Given the description of an element on the screen output the (x, y) to click on. 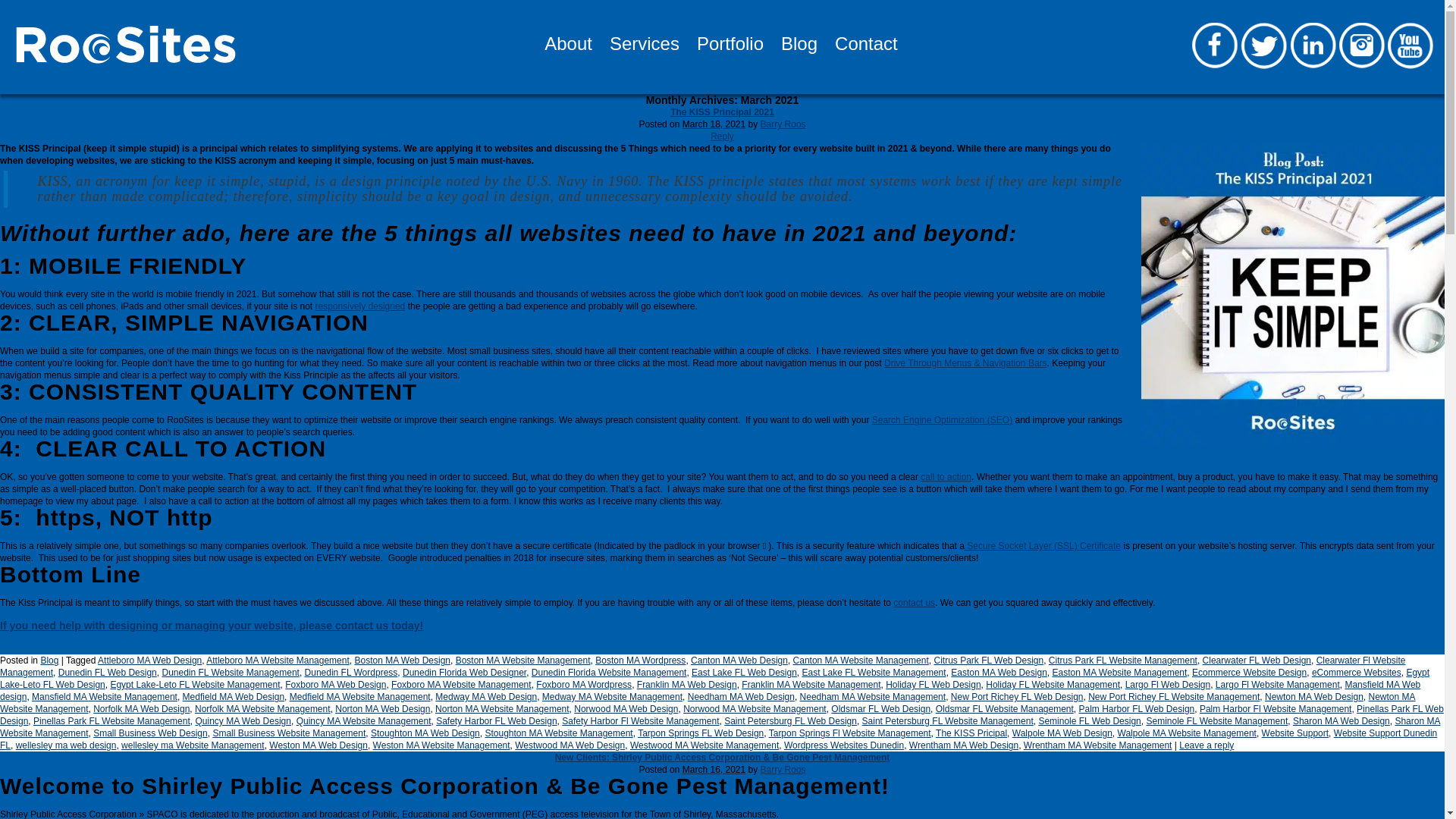
Contact (857, 48)
Barry Roos (783, 123)
call to action (945, 476)
March 18, 2021 (713, 123)
5:31 pm (713, 769)
responsively designed (360, 306)
View all posts by Barry Roos (783, 123)
Services (635, 48)
Reply (721, 136)
9:49 am (713, 123)
